Given the description of an element on the screen output the (x, y) to click on. 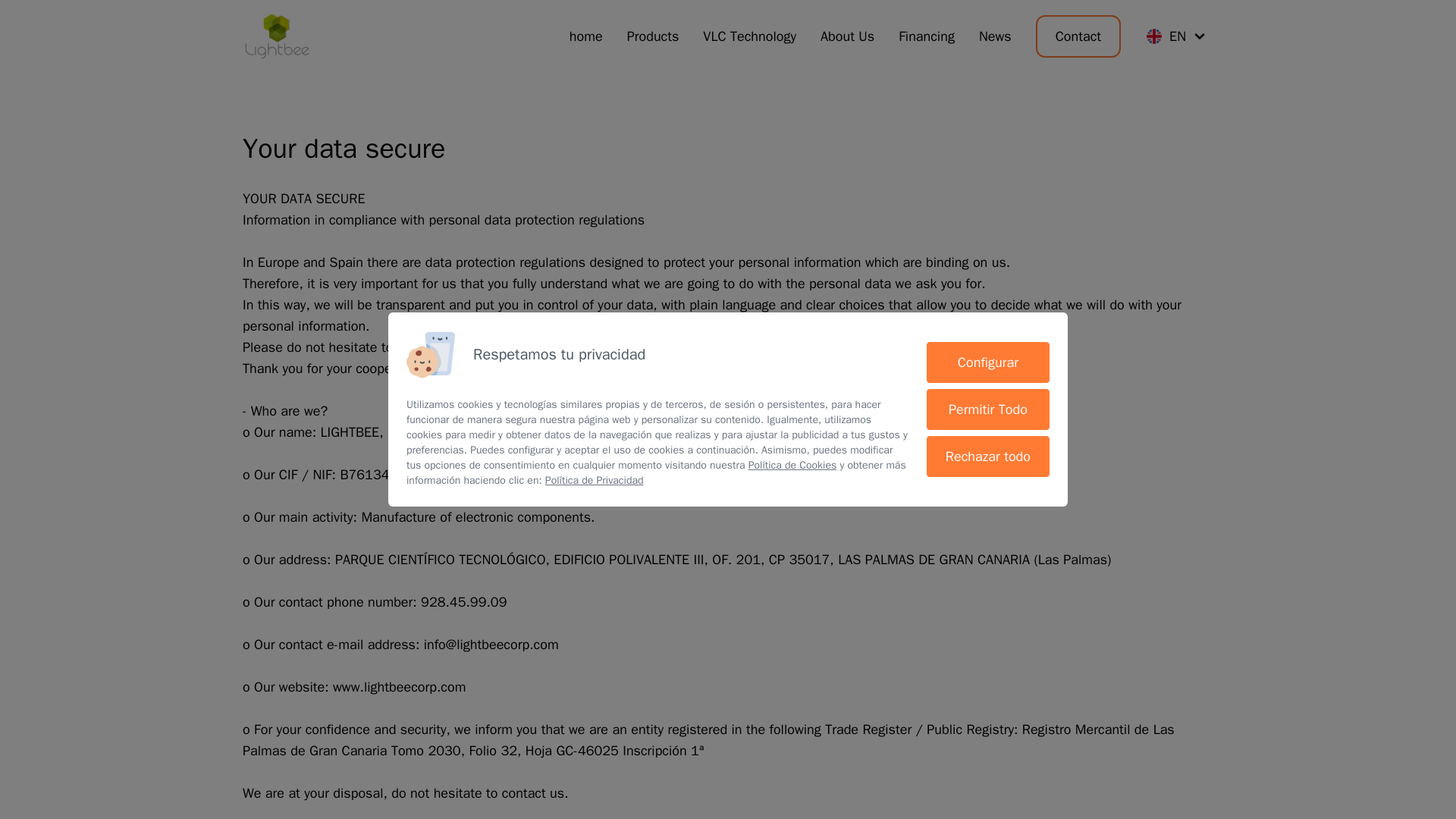
rechazar (987, 455)
Financing (926, 35)
configurar (987, 362)
News (994, 35)
Configurar (987, 362)
Contact (1078, 36)
EN (1175, 36)
VLC Technology (749, 35)
permitir (987, 409)
About Us (848, 35)
Products (653, 35)
home (585, 35)
Permitir Todo (987, 409)
Rechazar todo (987, 455)
